Given the description of an element on the screen output the (x, y) to click on. 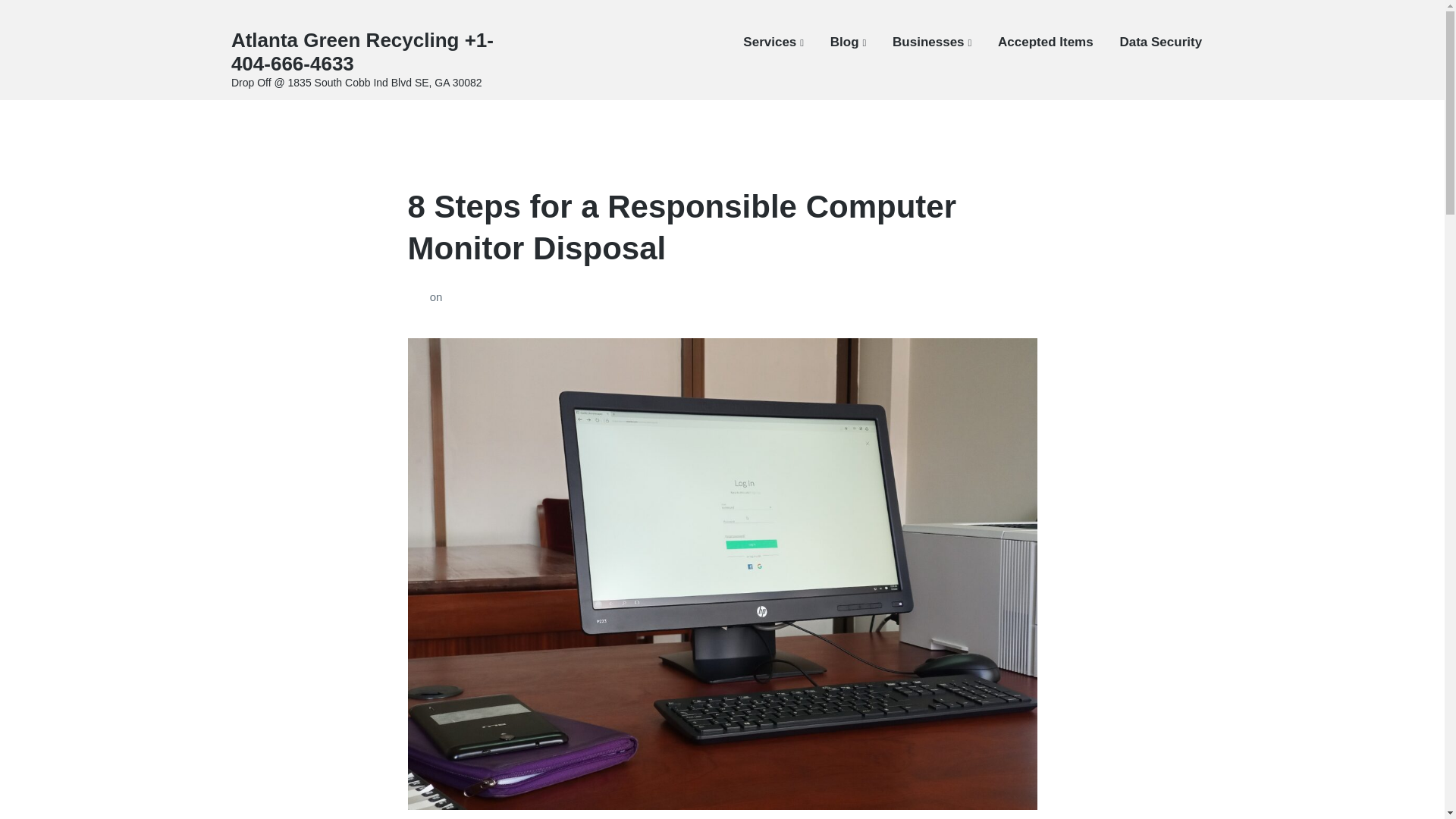
Services (772, 42)
Businesses (931, 42)
Posts by  (418, 296)
Blog (847, 42)
